Given the description of an element on the screen output the (x, y) to click on. 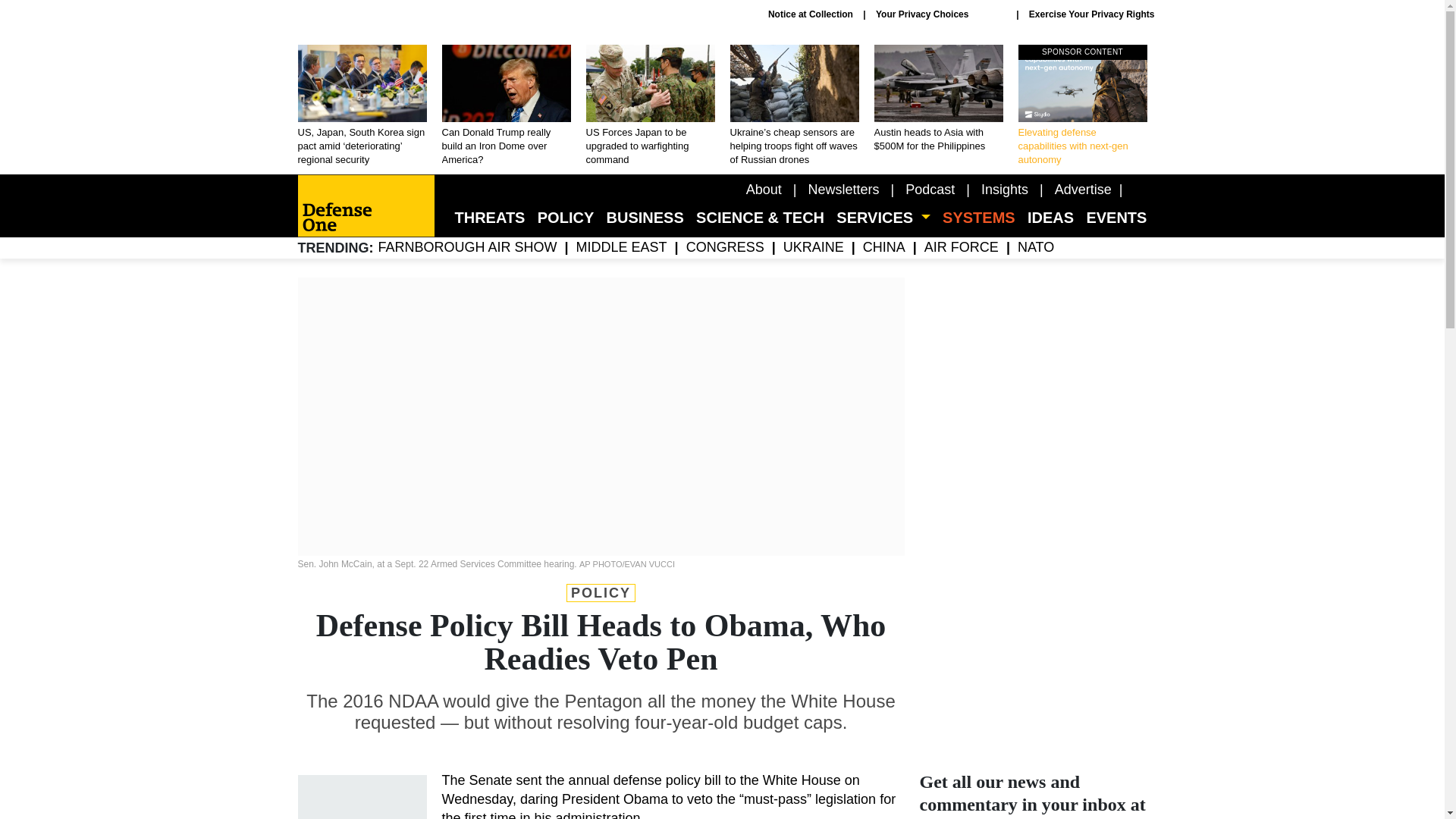
Can Donald Trump really build an Iron Dome over America? (505, 106)
Your Privacy Choices (941, 14)
Advertise (1083, 189)
US Forces Japan to be upgraded to warfighting command (649, 106)
Exercise Your Privacy Rights (1091, 14)
Newsletters (843, 189)
Insights (1004, 189)
About (763, 189)
Notice at Collection (810, 14)
Podcast (930, 189)
